Given the description of an element on the screen output the (x, y) to click on. 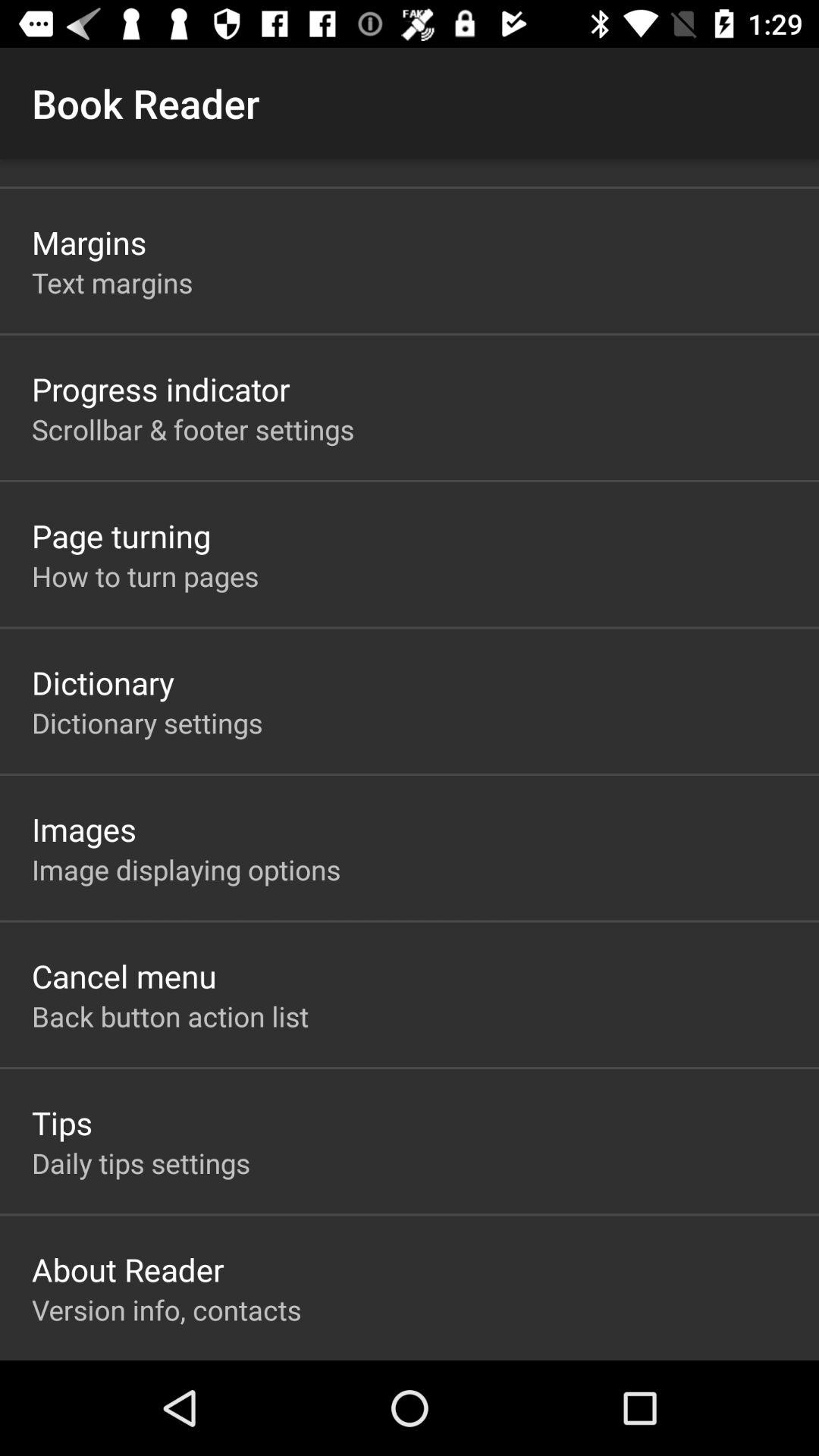
click about reader icon (127, 1269)
